Given the description of an element on the screen output the (x, y) to click on. 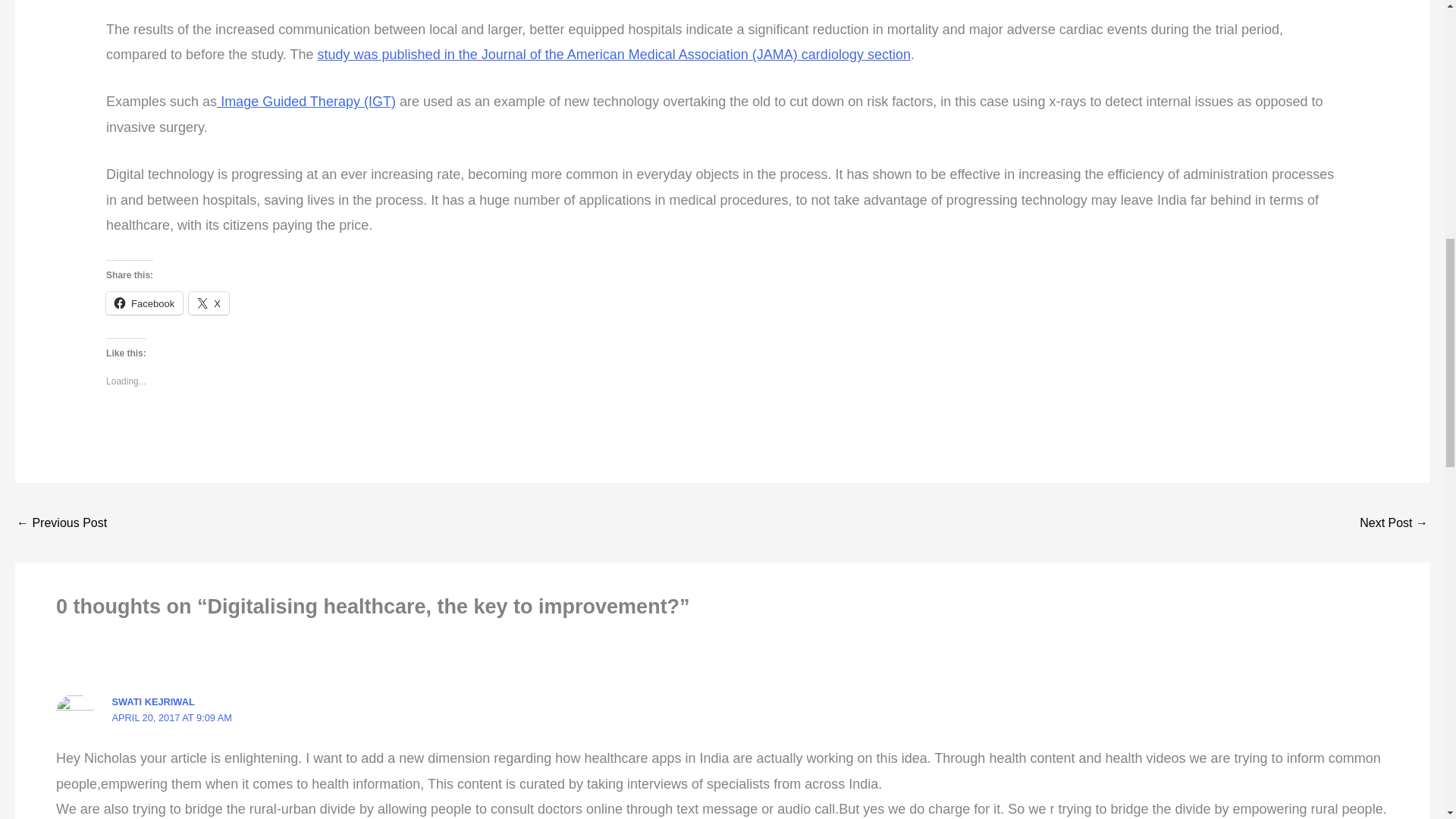
Click to share on X (208, 302)
National Health Policy approved by cabinet (1393, 522)
New heart attack plan of action (61, 522)
Click to share on Facebook (144, 302)
